Given the description of an element on the screen output the (x, y) to click on. 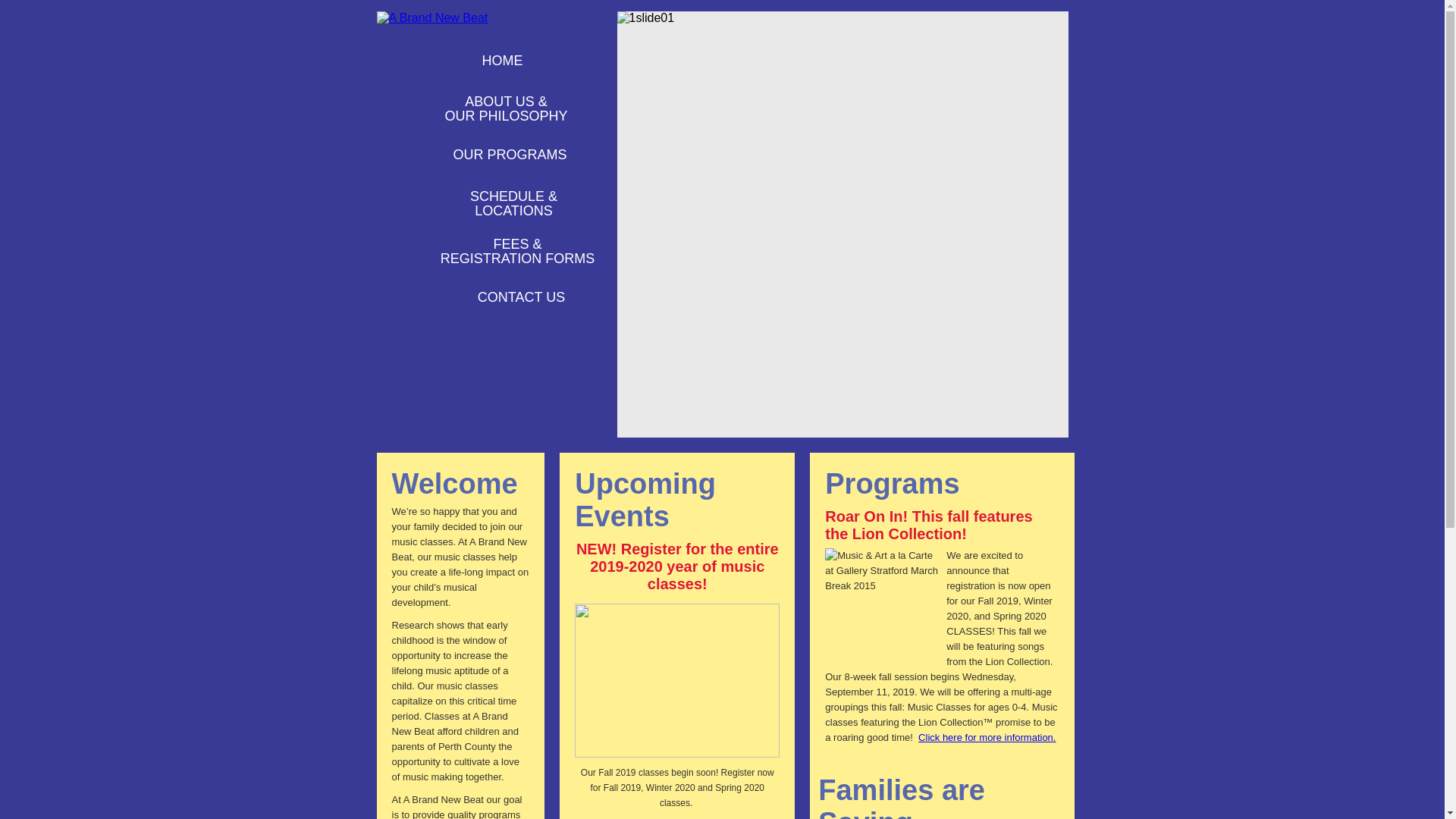
FEES &
REGISTRATION FORMS Element type: text (486, 251)
CONTACT US Element type: text (491, 297)
OUR PROGRAMS Element type: text (479, 154)
SCHEDULE &
LOCATIONS Element type: text (483, 203)
Click here for more information. Element type: text (986, 737)
HOME Element type: text (471, 60)
Roar On In! This fall features the Lion Collection! Element type: text (928, 525)
ABOUT US &
OUR PHILOSOPHY Element type: text (476, 108)
